Given the description of an element on the screen output the (x, y) to click on. 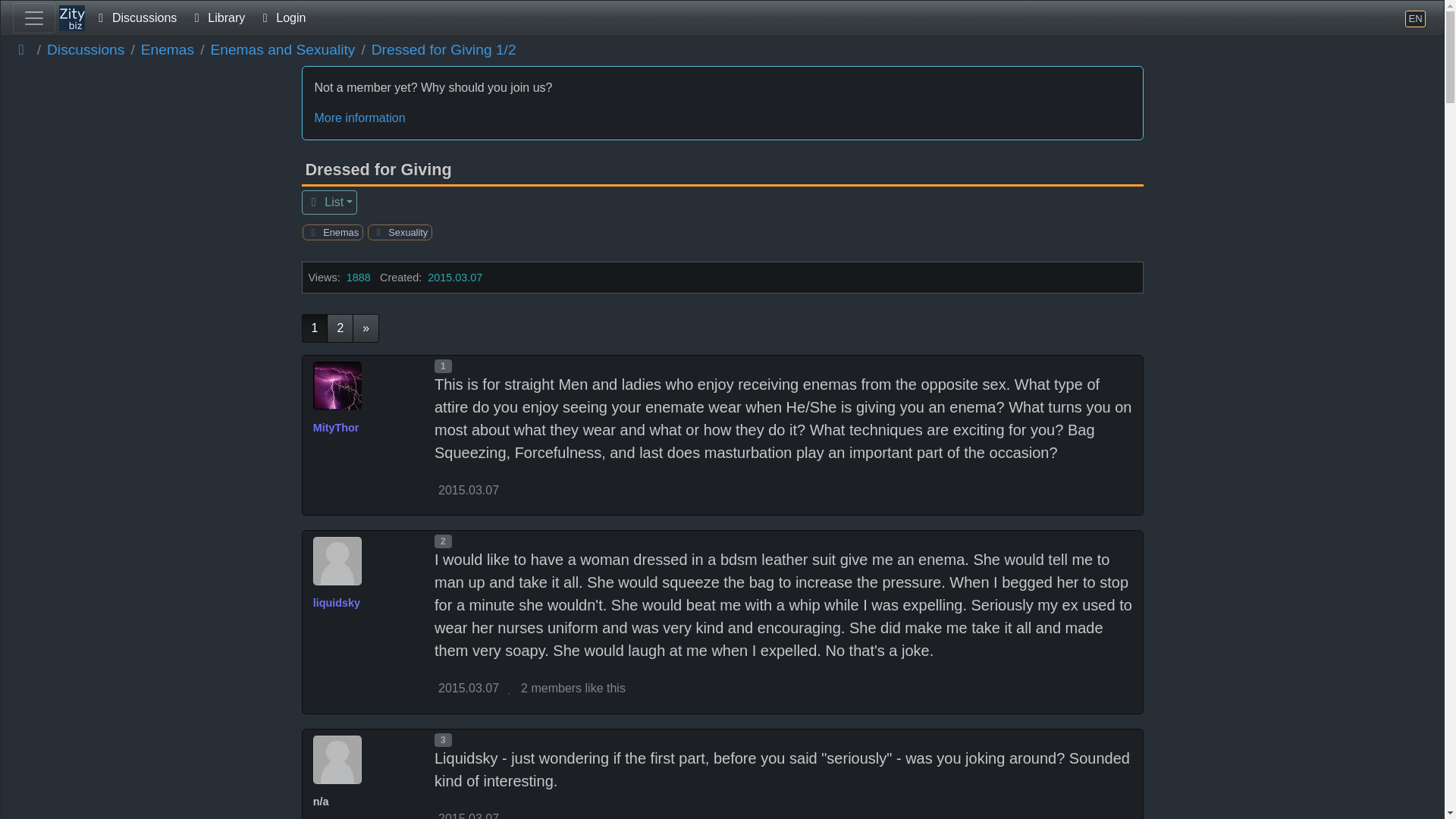
EN (1415, 18)
List (329, 202)
Language section (1415, 18)
2 (339, 328)
Discussions (84, 50)
Enemas (167, 50)
Enemas (338, 232)
Discussions (135, 18)
More information (721, 117)
1 (315, 328)
